Given the description of an element on the screen output the (x, y) to click on. 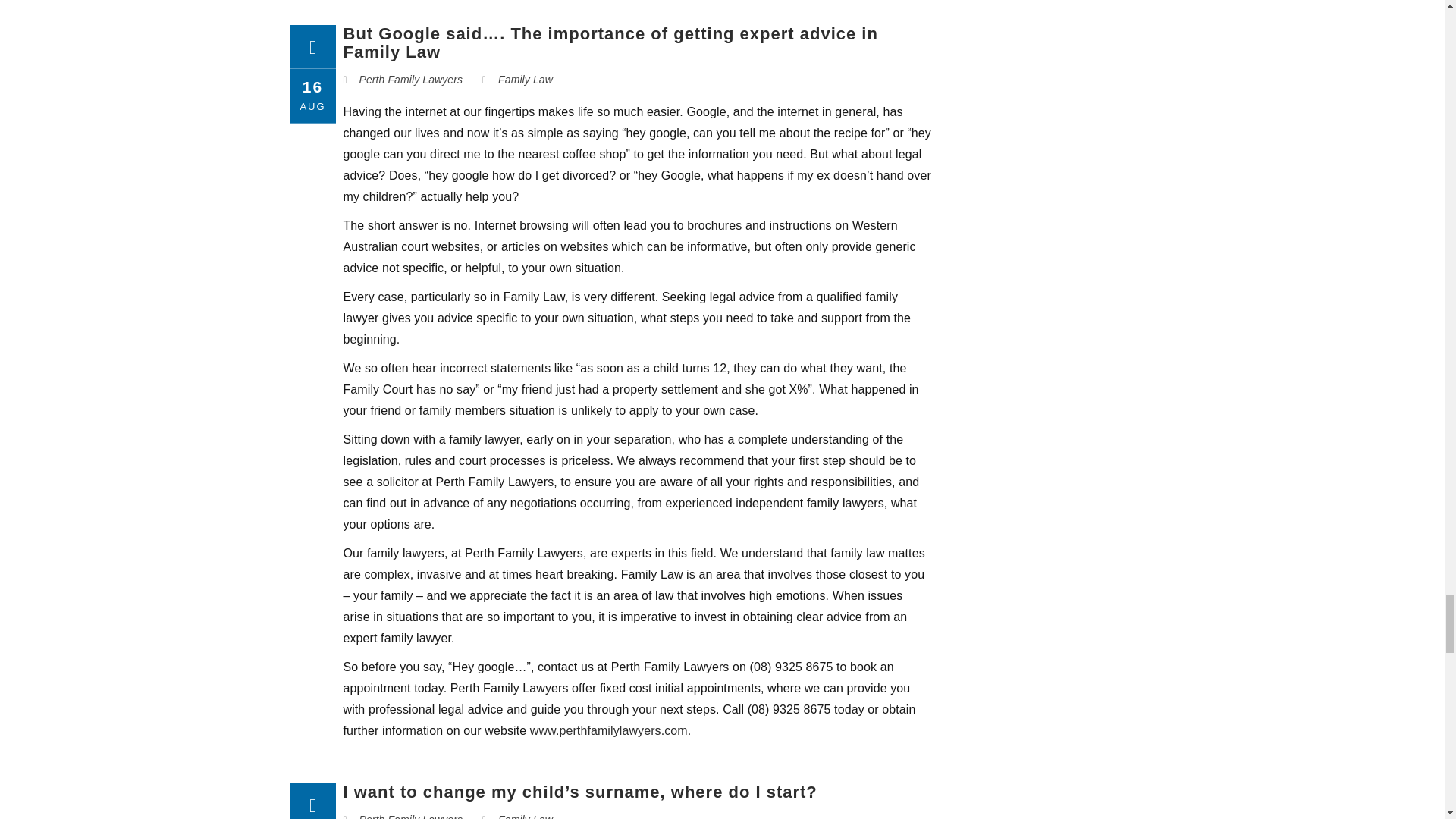
View all posts by Perth Family Lawyers (411, 816)
View all posts by Perth Family Lawyers (411, 79)
